Given the description of an element on the screen output the (x, y) to click on. 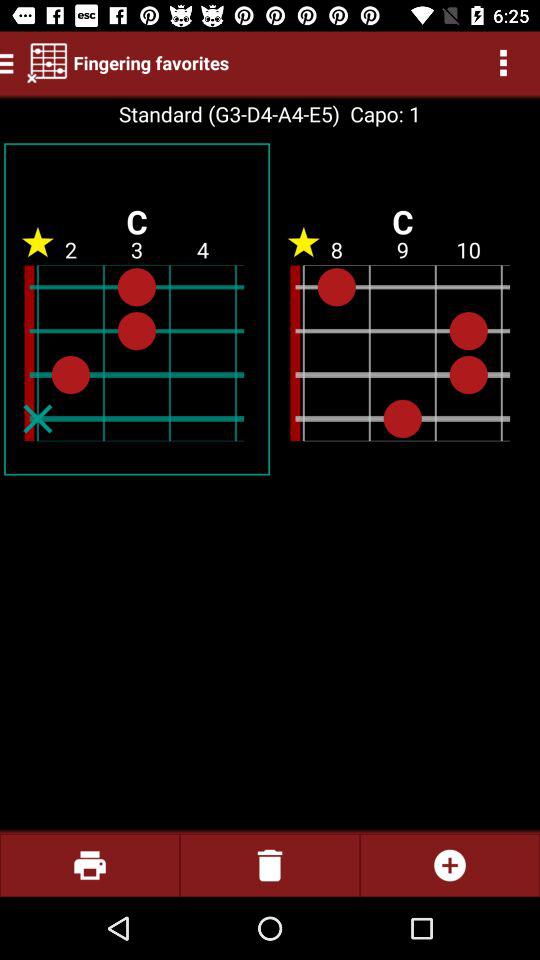
launch item to the right of the standard g3 d4 (379, 113)
